Given the description of an element on the screen output the (x, y) to click on. 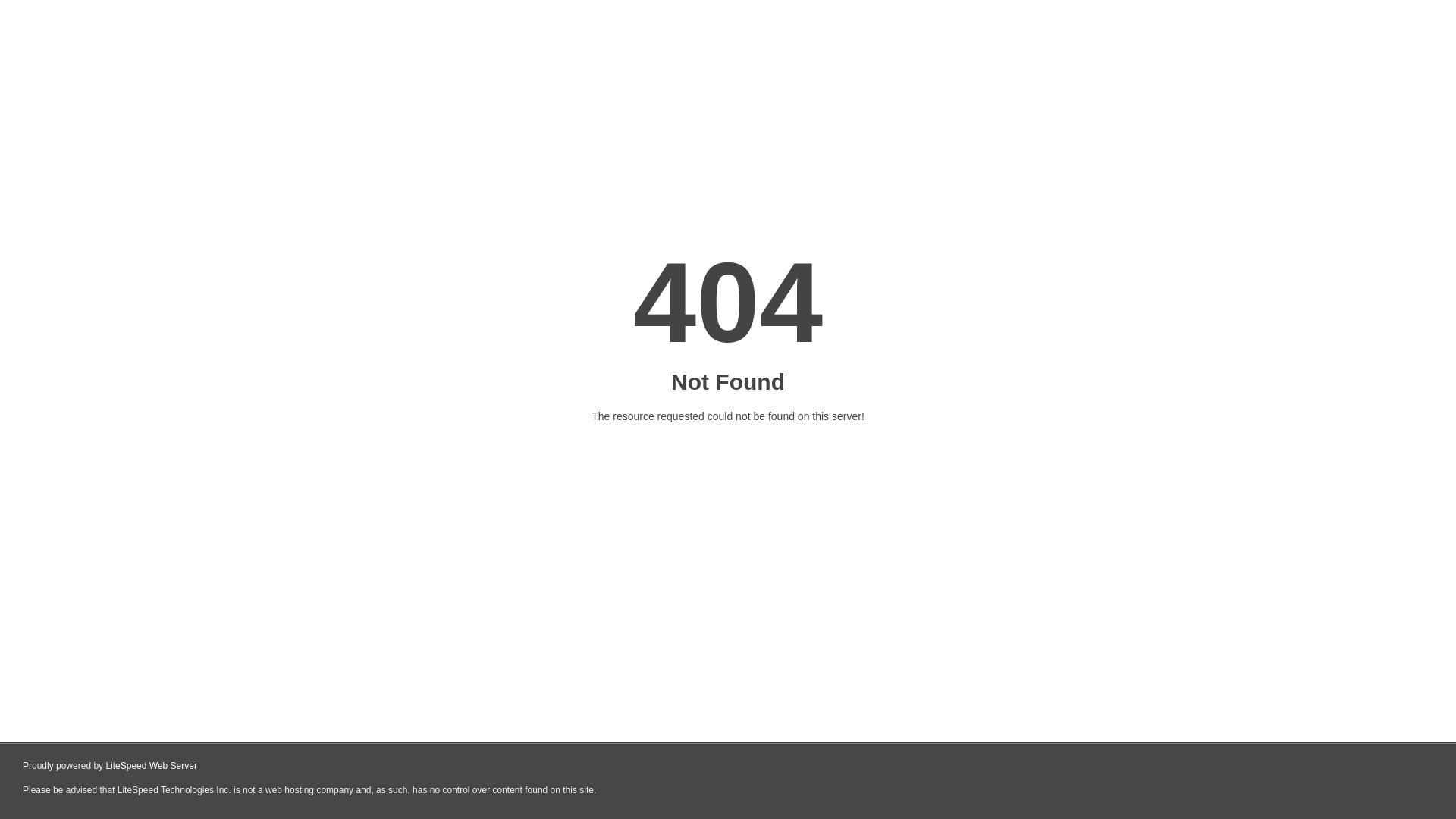
LiteSpeed Web Server Element type: text (151, 765)
